Given the description of an element on the screen output the (x, y) to click on. 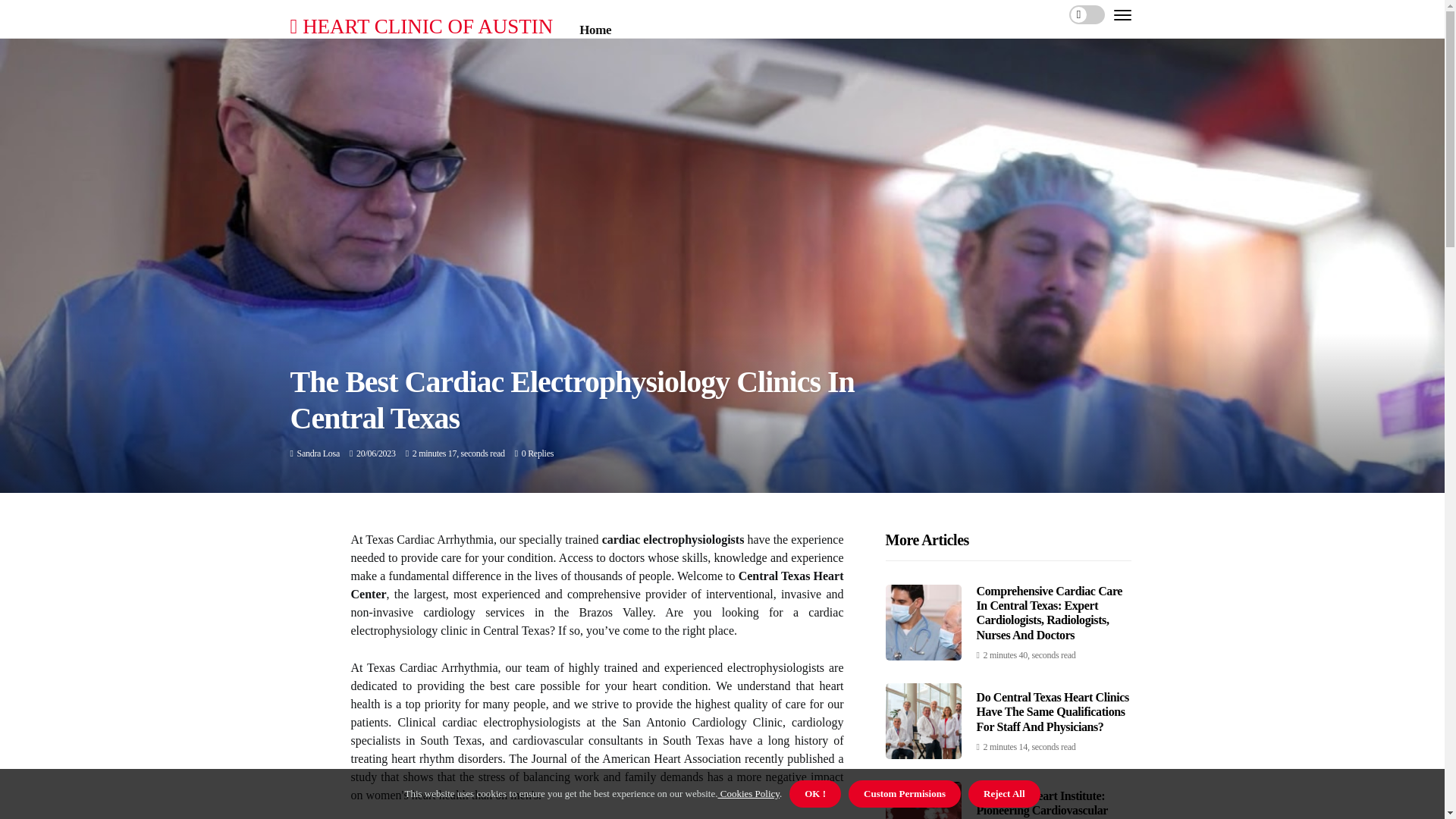
HEART CLINIC OF AUSTIN (421, 26)
Posts by Sandra Losa (318, 452)
The Texas Heart Institute: Pioneering Cardiovascular Care (1042, 804)
Sandra Losa (318, 452)
0 Replies (537, 452)
